Given the description of an element on the screen output the (x, y) to click on. 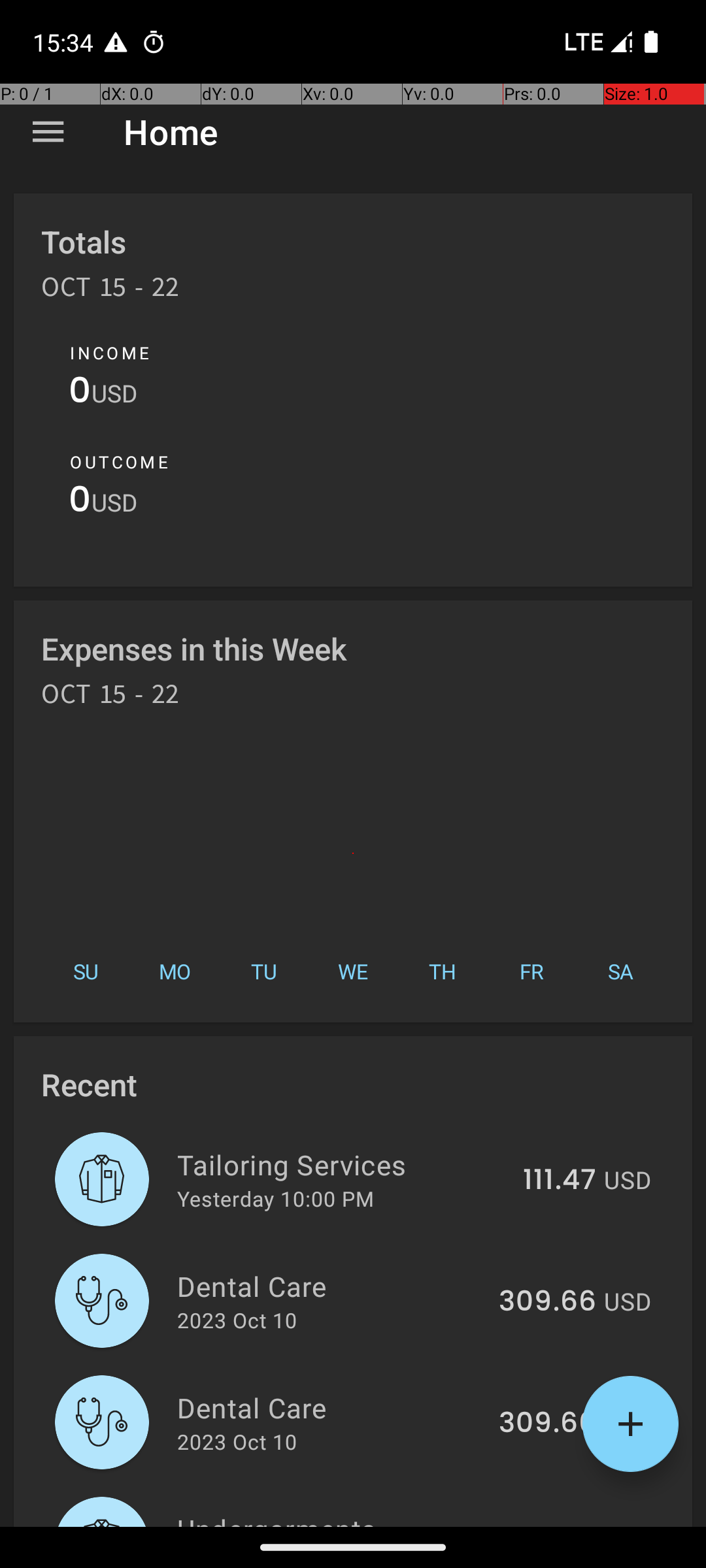
Tailoring Services Element type: android.widget.TextView (342, 1164)
Yesterday 10:00 PM Element type: android.widget.TextView (275, 1198)
111.47 Element type: android.widget.TextView (559, 1180)
Dental Care Element type: android.widget.TextView (330, 1285)
309.66 Element type: android.widget.TextView (547, 1301)
Undergarments Element type: android.widget.TextView (335, 1518)
174.52 Element type: android.widget.TextView (552, 1524)
